Given the description of an element on the screen output the (x, y) to click on. 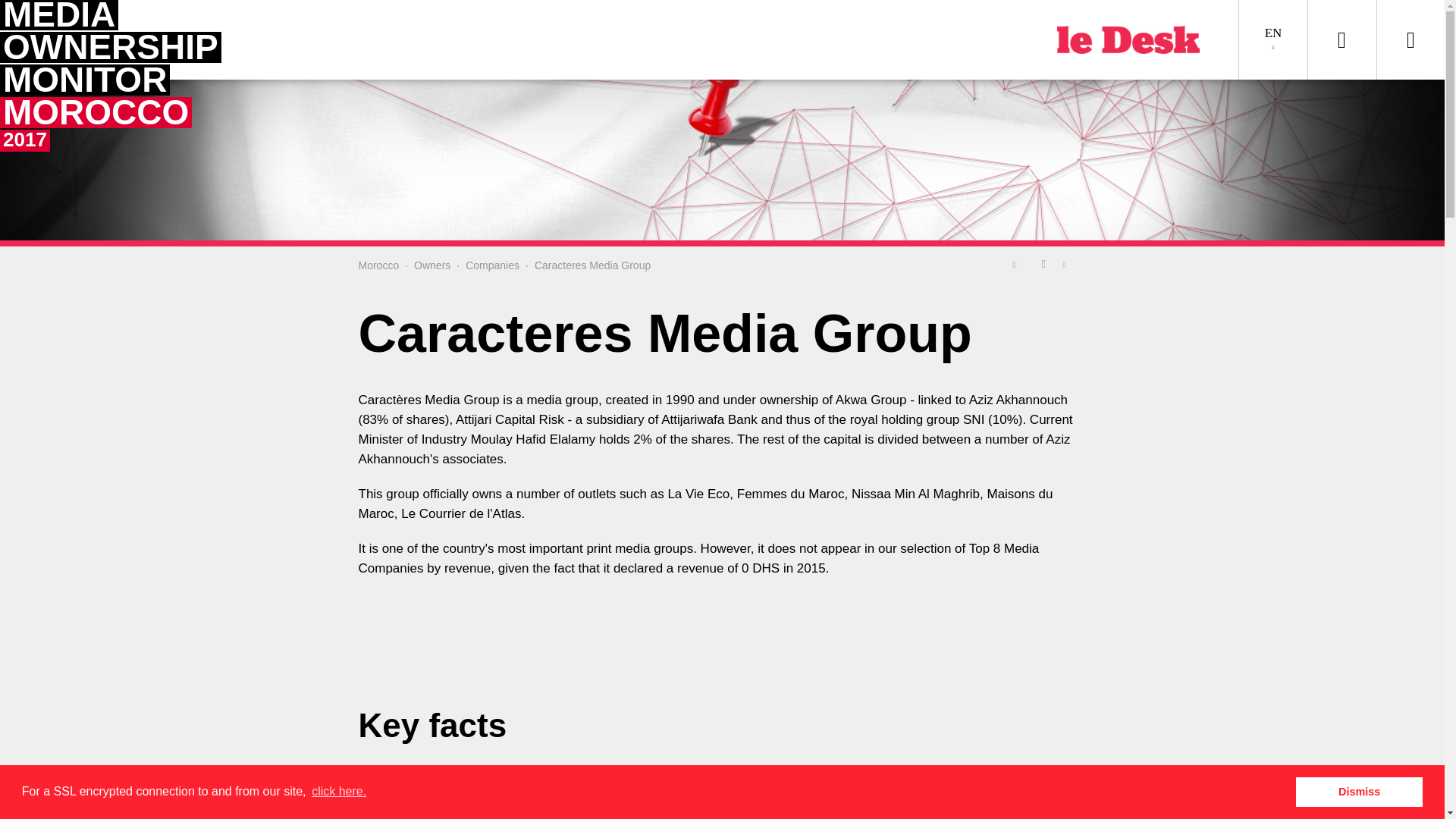
Share this site on twitter (1017, 263)
twitter (1017, 263)
email (1068, 263)
Owners (431, 264)
Companies (492, 264)
Caracteres Media Group (592, 264)
Owners (431, 264)
click here. (338, 791)
Share this site on facebook (1042, 263)
Companies (492, 264)
Morocco (87, 76)
Media Ownership Monitor Morocco (378, 264)
Share this site by e-mail (378, 264)
Le Desk (1068, 263)
